Given the description of an element on the screen output the (x, y) to click on. 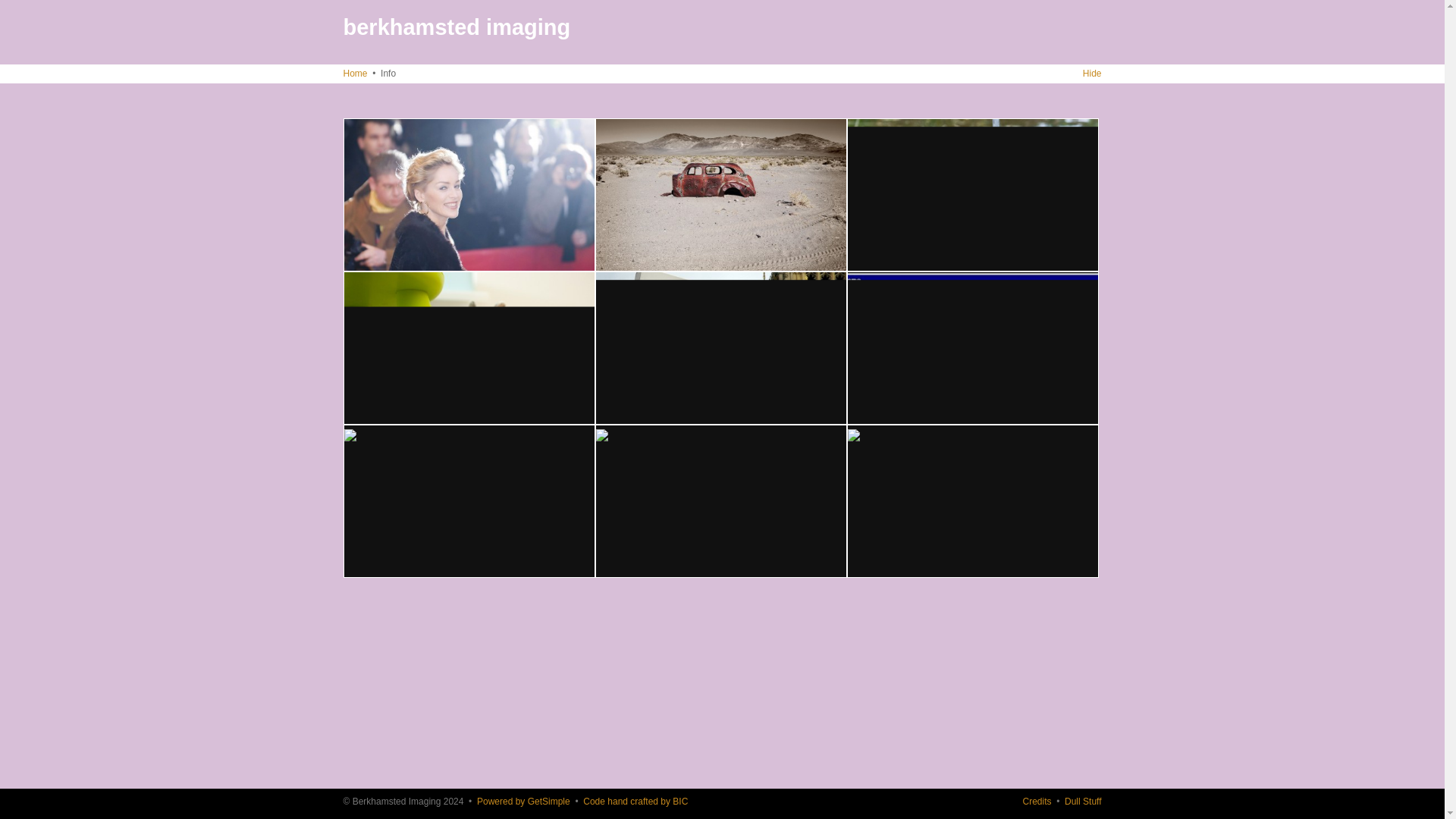
The "Funky Photo Stuff" bit. (972, 194)
The "Soapbox and other mildly entertaining nonsense" bit. (468, 501)
The "Answers to some not so frequently asked questions" bit. (800, 49)
The "Things We Can Do To Help" bit. (1073, 49)
